Given the description of an element on the screen output the (x, y) to click on. 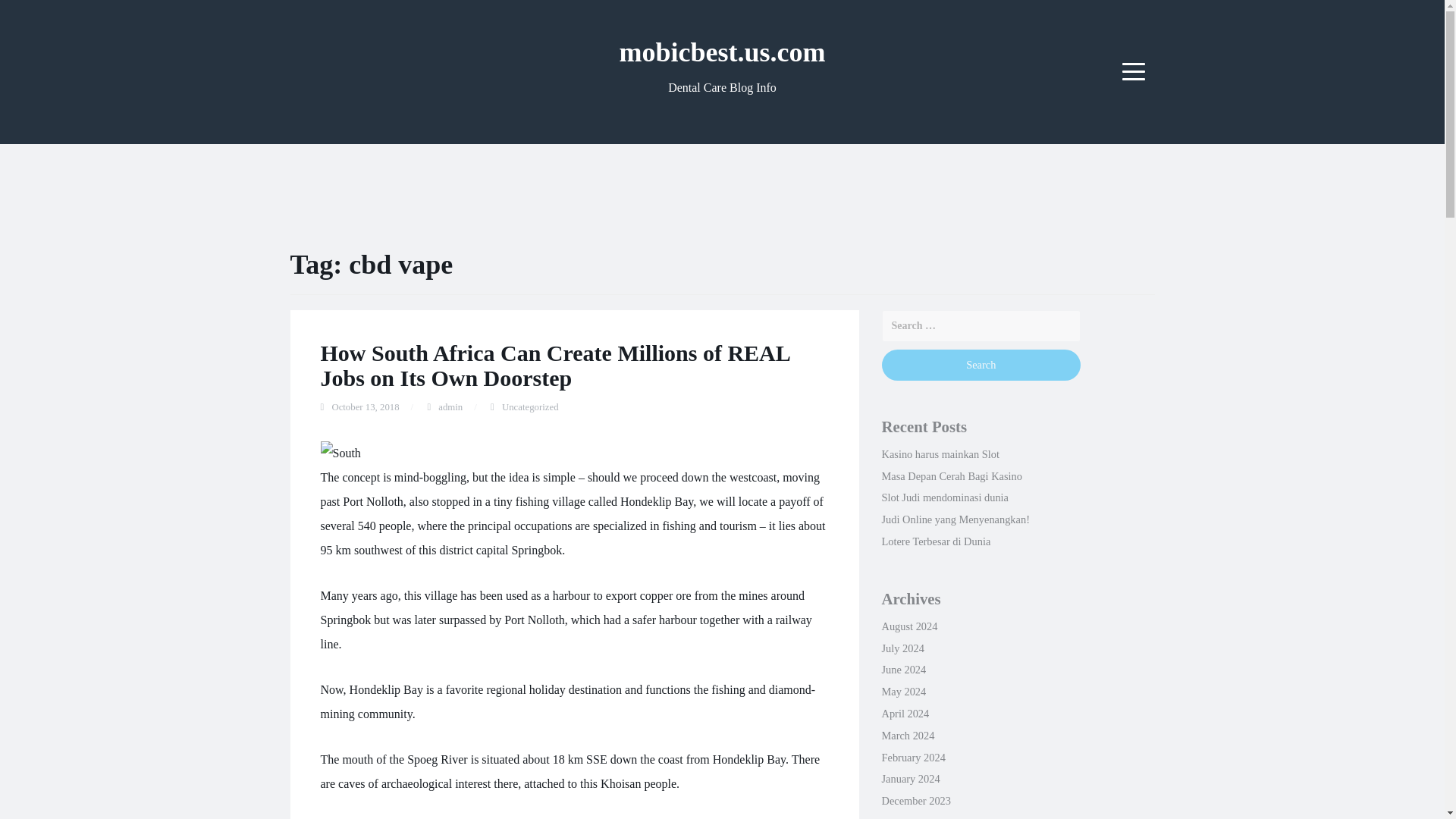
February 2024 (912, 757)
admin (450, 407)
January 2024 (909, 778)
Masa Depan Cerah Bagi Kasino (951, 476)
Lotere Terbesar di Dunia (935, 541)
August 2024 (908, 625)
Search (980, 364)
Uncategorized (530, 407)
Judi Online yang Menyenangkan! (954, 519)
Search (980, 364)
